Given the description of an element on the screen output the (x, y) to click on. 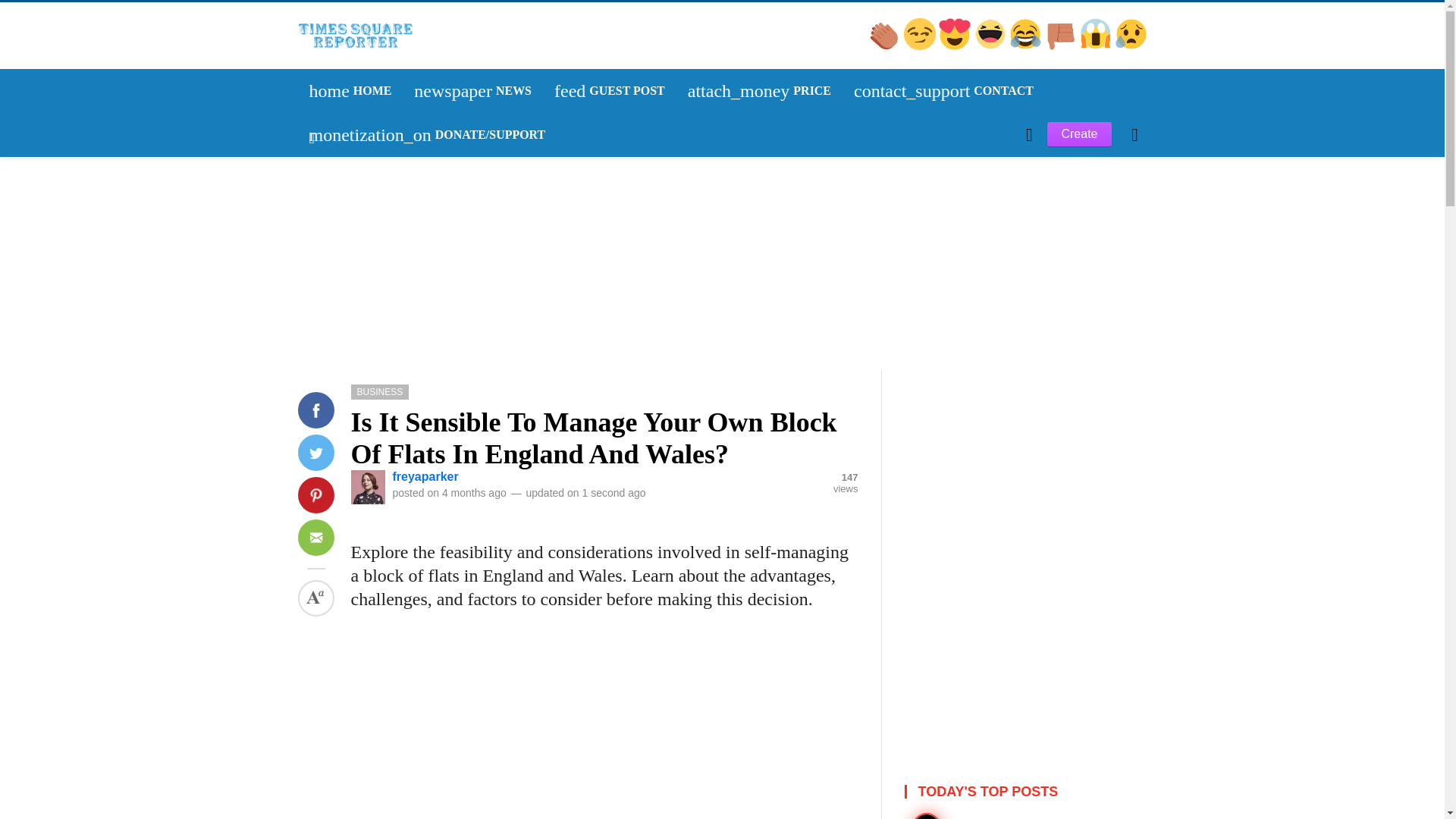
FAIL! (1062, 45)
FUNNY (1026, 45)
EW! (1131, 45)
Log in (350, 90)
sign up (610, 90)
EW! (329, 292)
OMG! (331, 292)
LOL (333, 293)
